Given the description of an element on the screen output the (x, y) to click on. 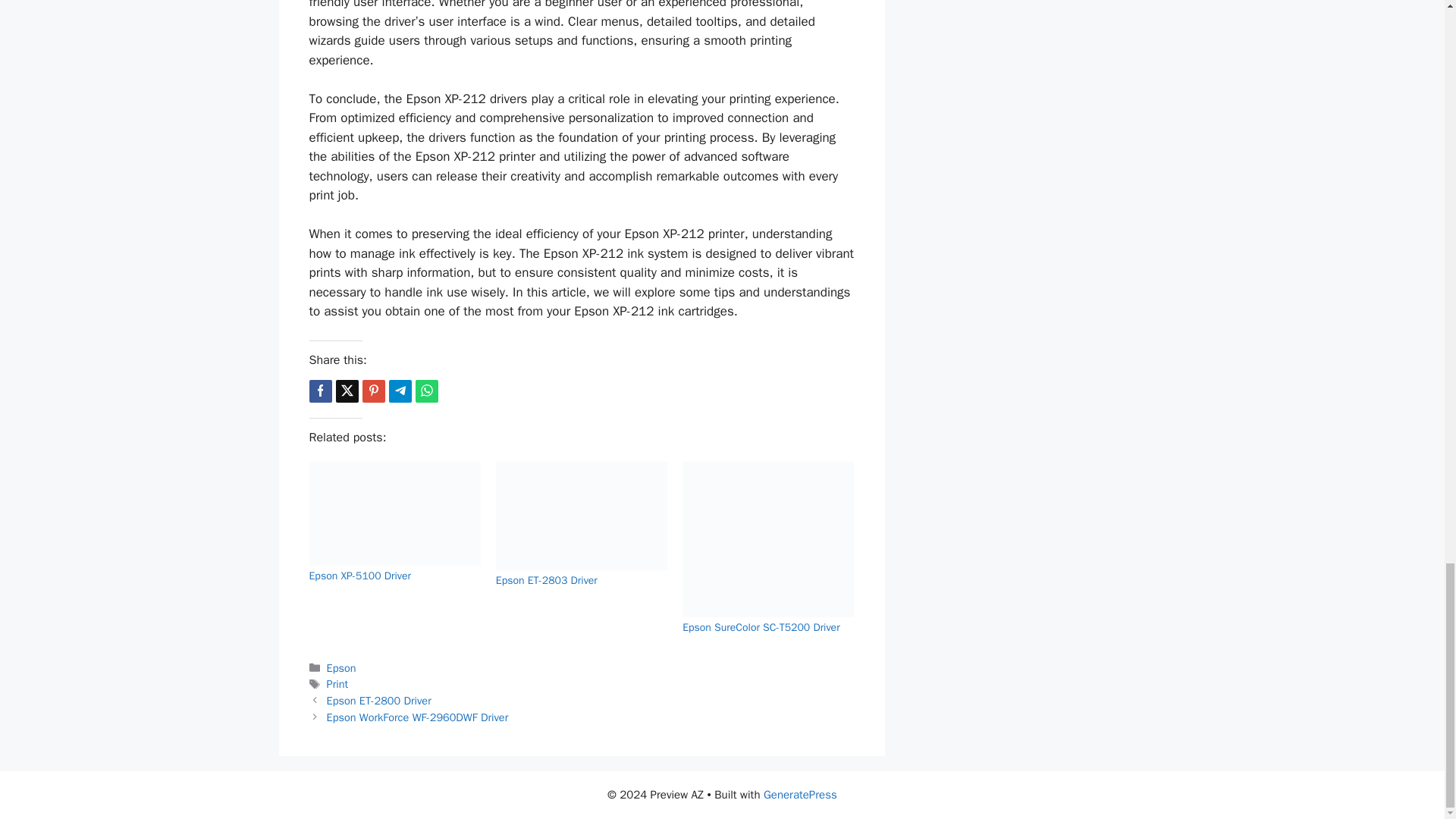
Share this (319, 391)
Epson SureColor SC-T5200 Driver (761, 626)
Telegram Share (399, 391)
Epson XP-5100 Driver (360, 575)
Epson (341, 667)
Epson ET-2803 Driver (546, 580)
GeneratePress (799, 794)
Pin this (373, 391)
Print (337, 684)
Tweet this (346, 391)
Epson ET-2800 Driver (378, 700)
Epson WorkForce WF-2960DWF Driver (417, 716)
